Given the description of an element on the screen output the (x, y) to click on. 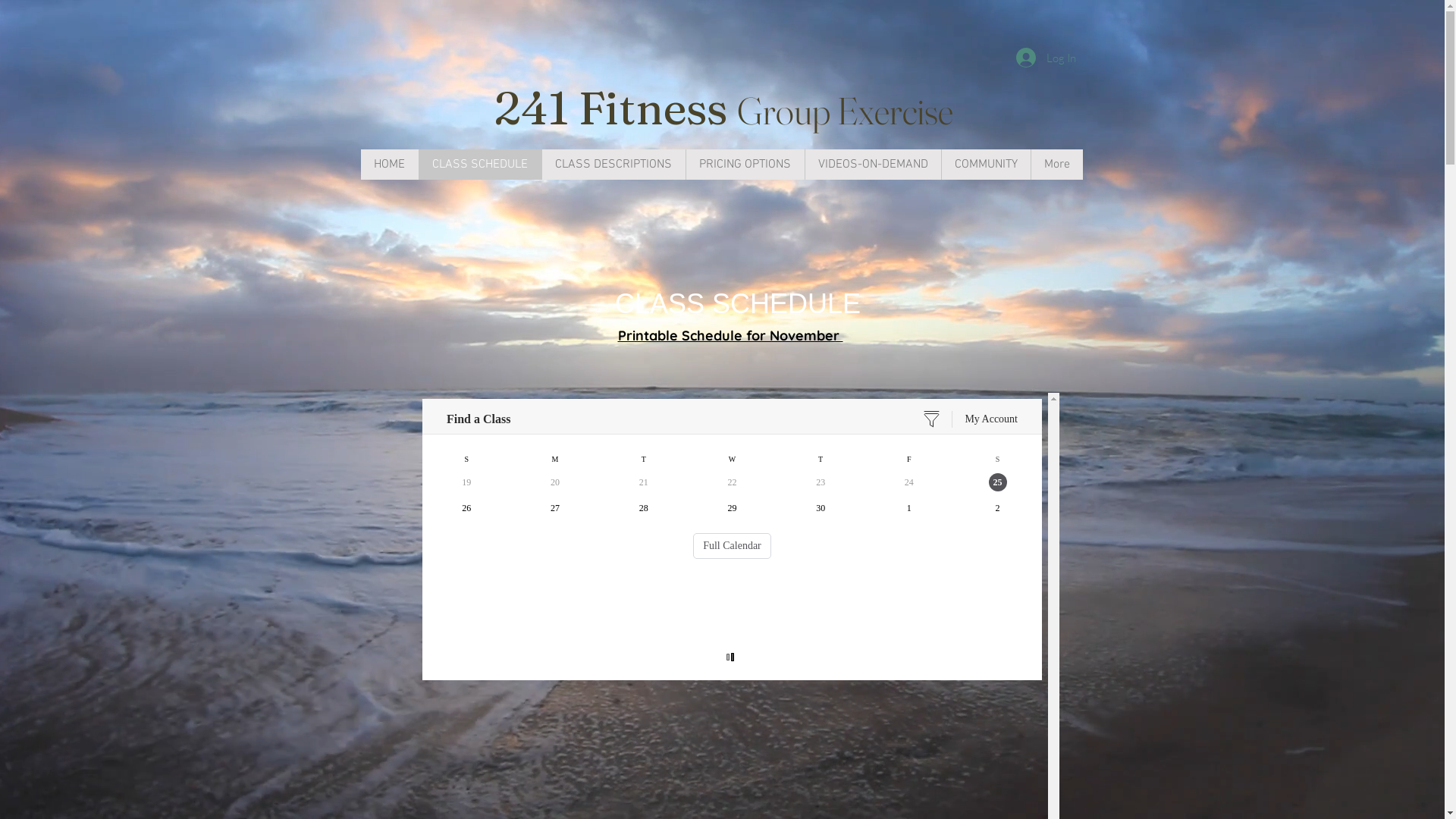
Printable Schedule for November  Element type: text (729, 337)
CLASS SCHEDULE Element type: text (479, 164)
COMMUNITY Element type: text (984, 164)
CLASS DESCRIPTIONS Element type: text (613, 164)
PRICING OPTIONS Element type: text (744, 164)
Log In Element type: text (1045, 57)
VIDEOS-ON-DEMAND Element type: text (871, 164)
HOME Element type: text (389, 164)
